Given the description of an element on the screen output the (x, y) to click on. 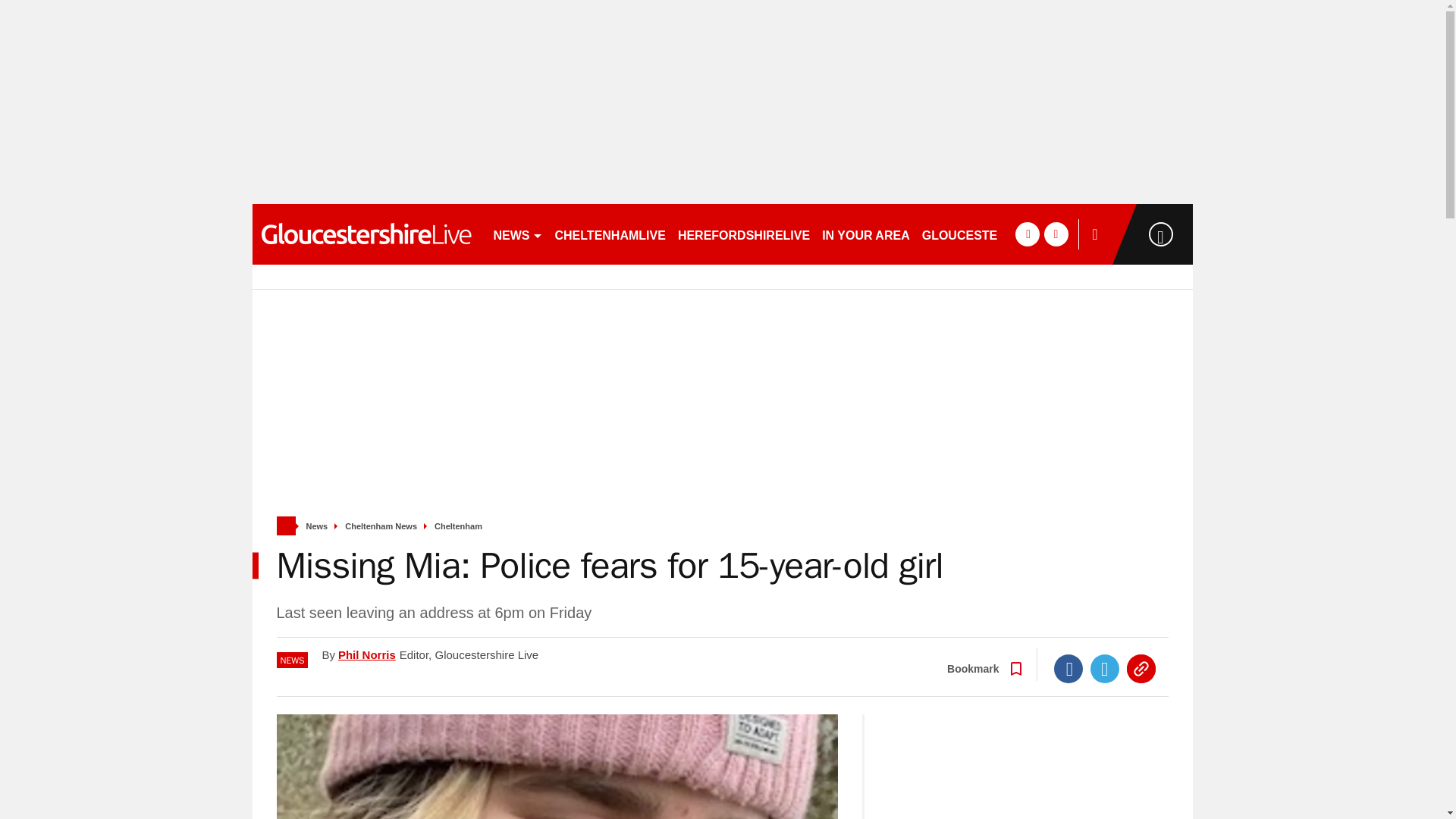
gloucestershirelive (365, 233)
CHELTENHAMLIVE (609, 233)
twitter (1055, 233)
HEREFORDSHIRELIVE (743, 233)
Twitter (1104, 668)
IN YOUR AREA (865, 233)
Facebook (1068, 668)
NEWS (517, 233)
facebook (1026, 233)
GLOUCESTER NEWS (983, 233)
